Given the description of an element on the screen output the (x, y) to click on. 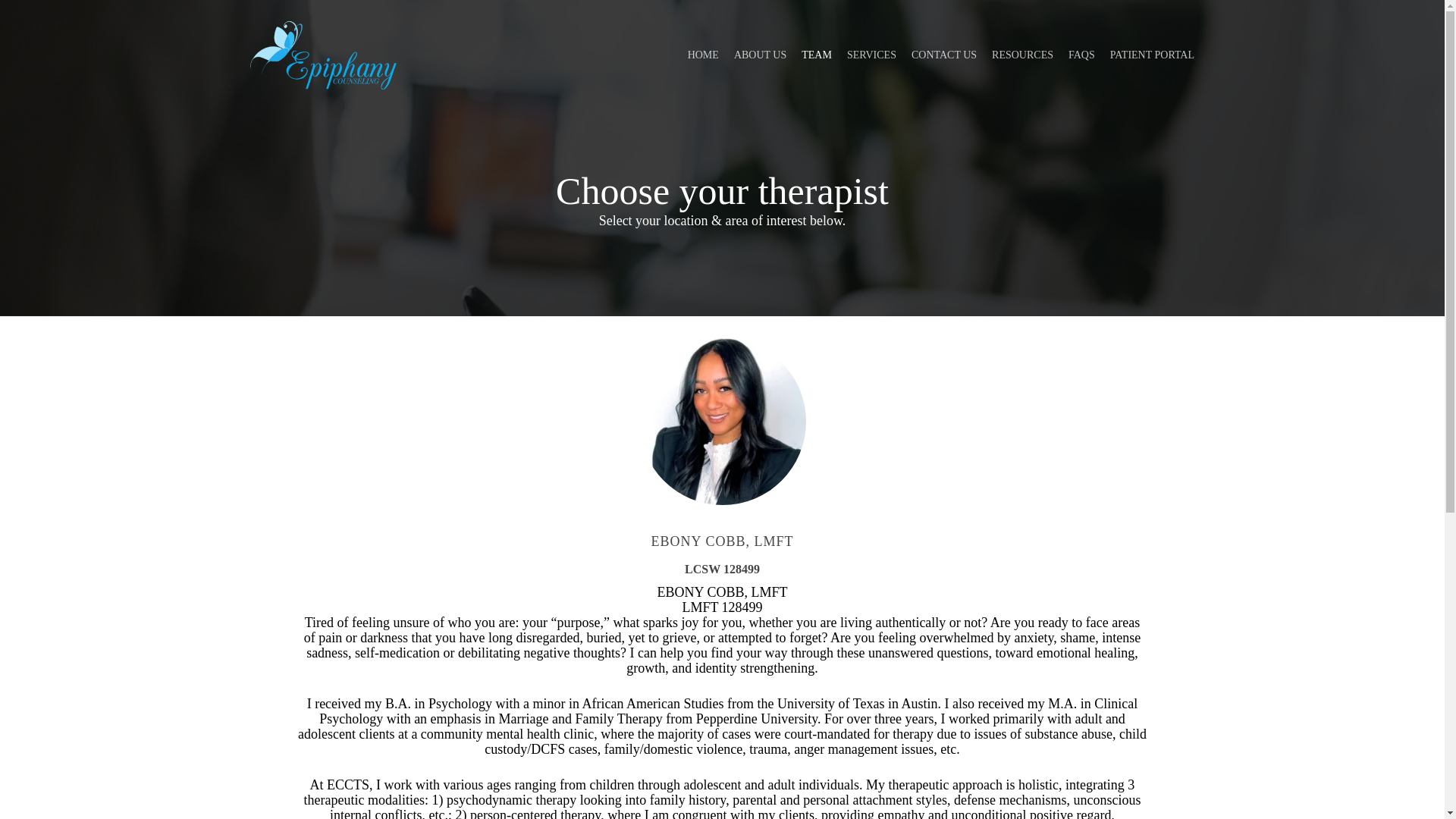
CONTACT US (944, 55)
RESOURCES (1022, 55)
PATIENT PORTAL (1147, 55)
TEAM (816, 55)
ABOUT US (759, 55)
FAQS (1081, 55)
HOME (702, 55)
SERVICES (872, 55)
